Given the description of an element on the screen output the (x, y) to click on. 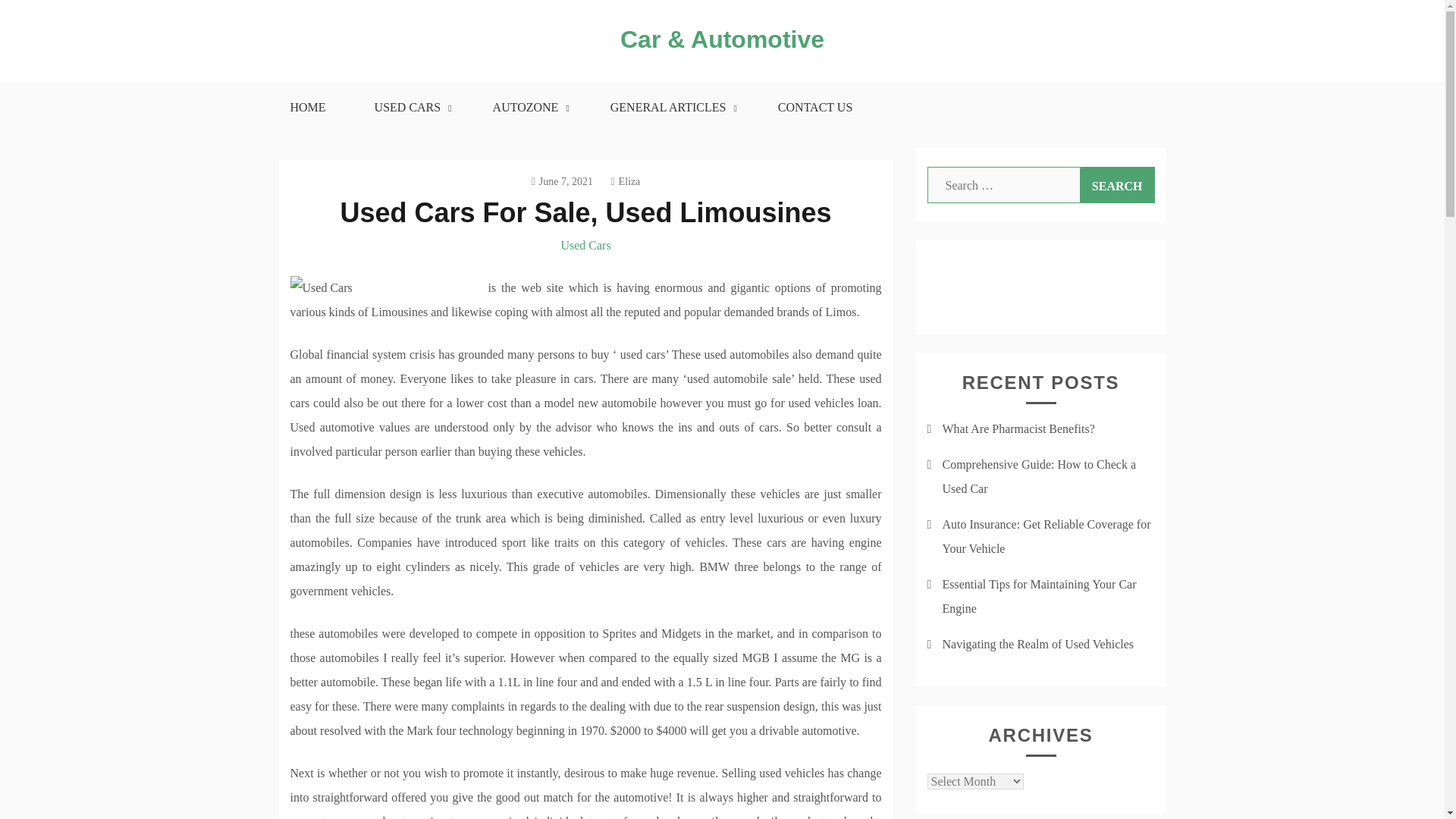
USED CARS (409, 107)
June 7, 2021 (561, 181)
GENERAL ARTICLES (670, 107)
AUTOZONE (527, 107)
Essential Tips for Maintaining Your Car Engine (1038, 596)
Eliza (625, 181)
Used Cars (585, 245)
Comprehensive Guide: How to Check a Used Car (1038, 476)
CONTACT US (815, 107)
Auto Insurance: Get Reliable Coverage for Your Vehicle (1046, 536)
What Are Pharmacist Benefits? (1018, 428)
Search (1117, 185)
HOME (306, 107)
Search (1117, 185)
Search (1117, 185)
